Given the description of an element on the screen output the (x, y) to click on. 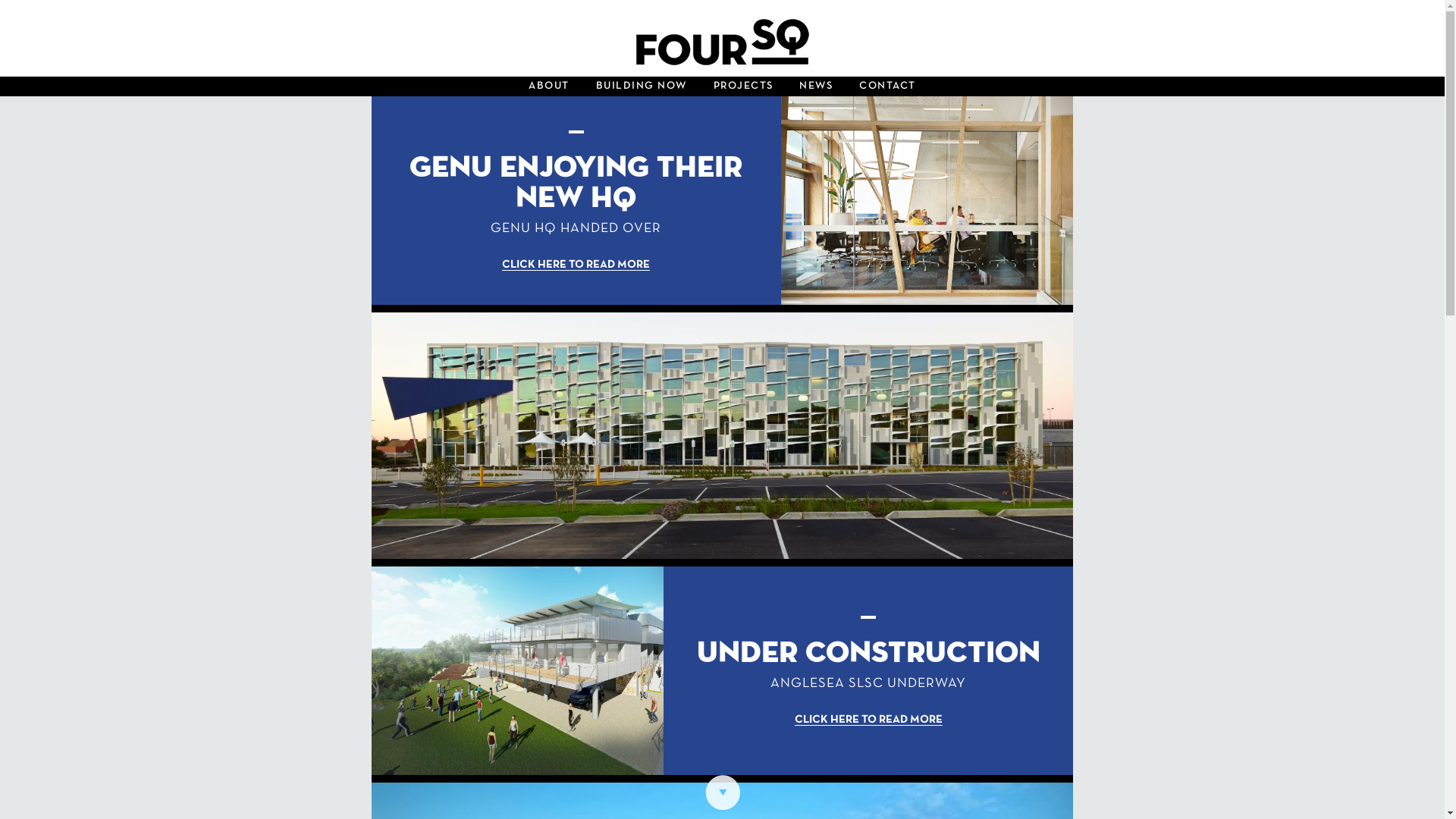
BUILDING NOW Element type: text (641, 86)
NEWS Element type: text (815, 86)
PROJECTS Element type: text (742, 86)
ABOUT Element type: text (548, 86)
CLICK HERE TO READ MORE Element type: text (868, 719)
CONTACT Element type: text (887, 86)
CLICK HERE TO READ MORE Element type: text (575, 264)
